Given the description of an element on the screen output the (x, y) to click on. 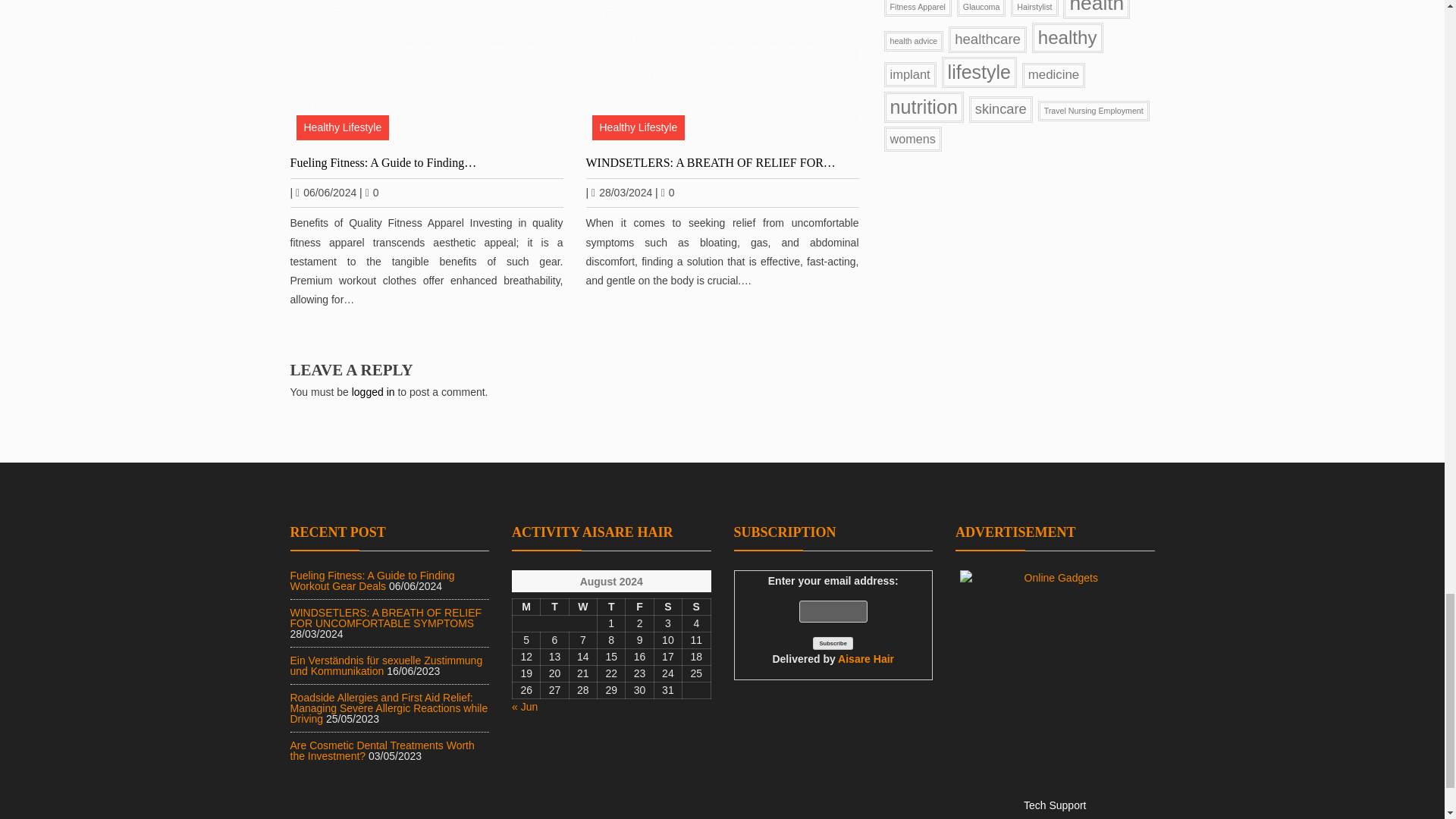
Subscribe (832, 643)
Healthy Lifestyle (637, 127)
0 (371, 192)
Healthy Lifestyle (341, 127)
WINDSETLERS: A BREATH OF RELIEF FOR UNCOMFORTABLE SYMPTOMS (722, 73)
Fueling Fitness: A Guide to Finding Workout Gear Deals (425, 73)
